Given the description of an element on the screen output the (x, y) to click on. 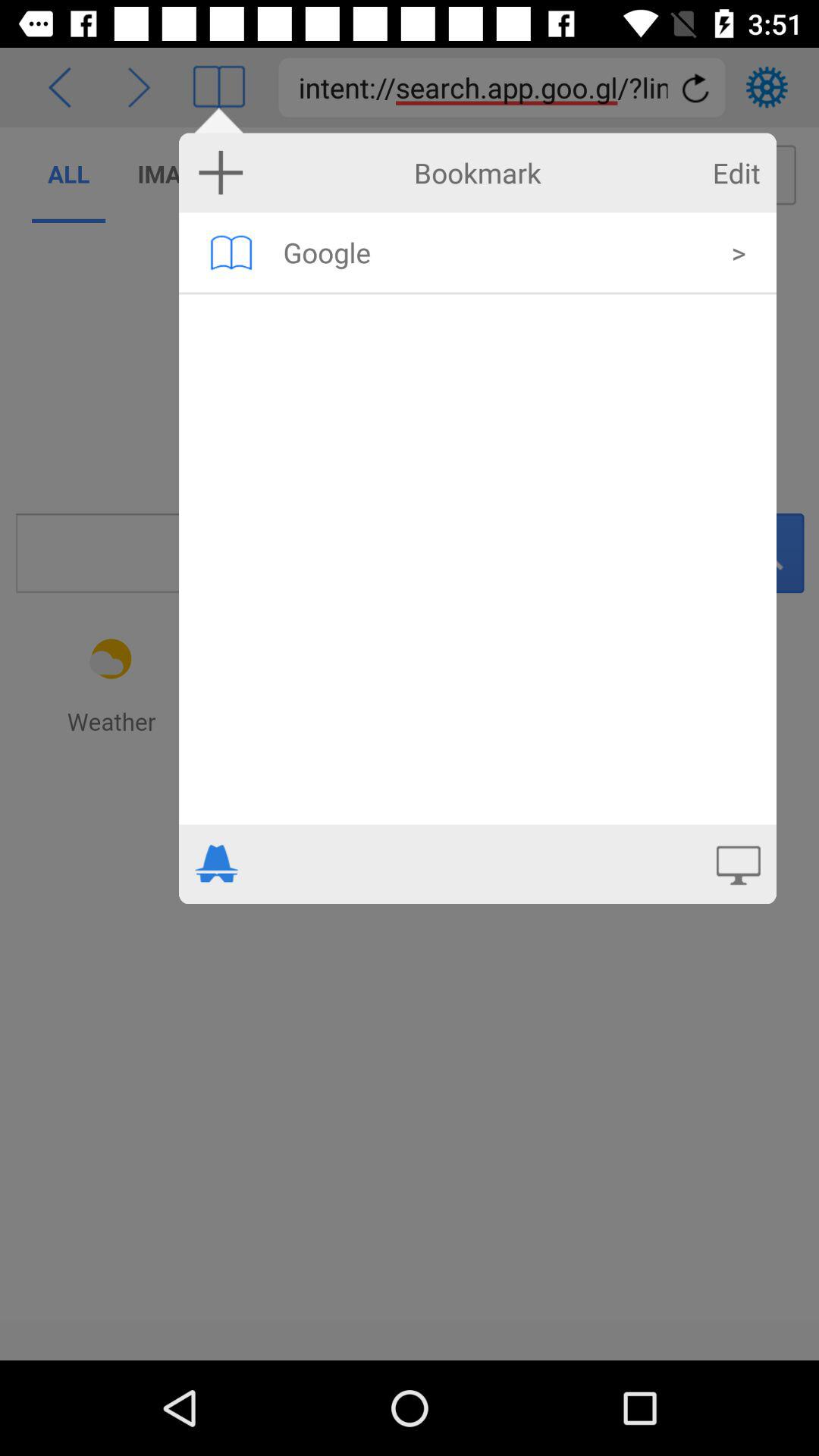
open the > (738, 252)
